Given the description of an element on the screen output the (x, y) to click on. 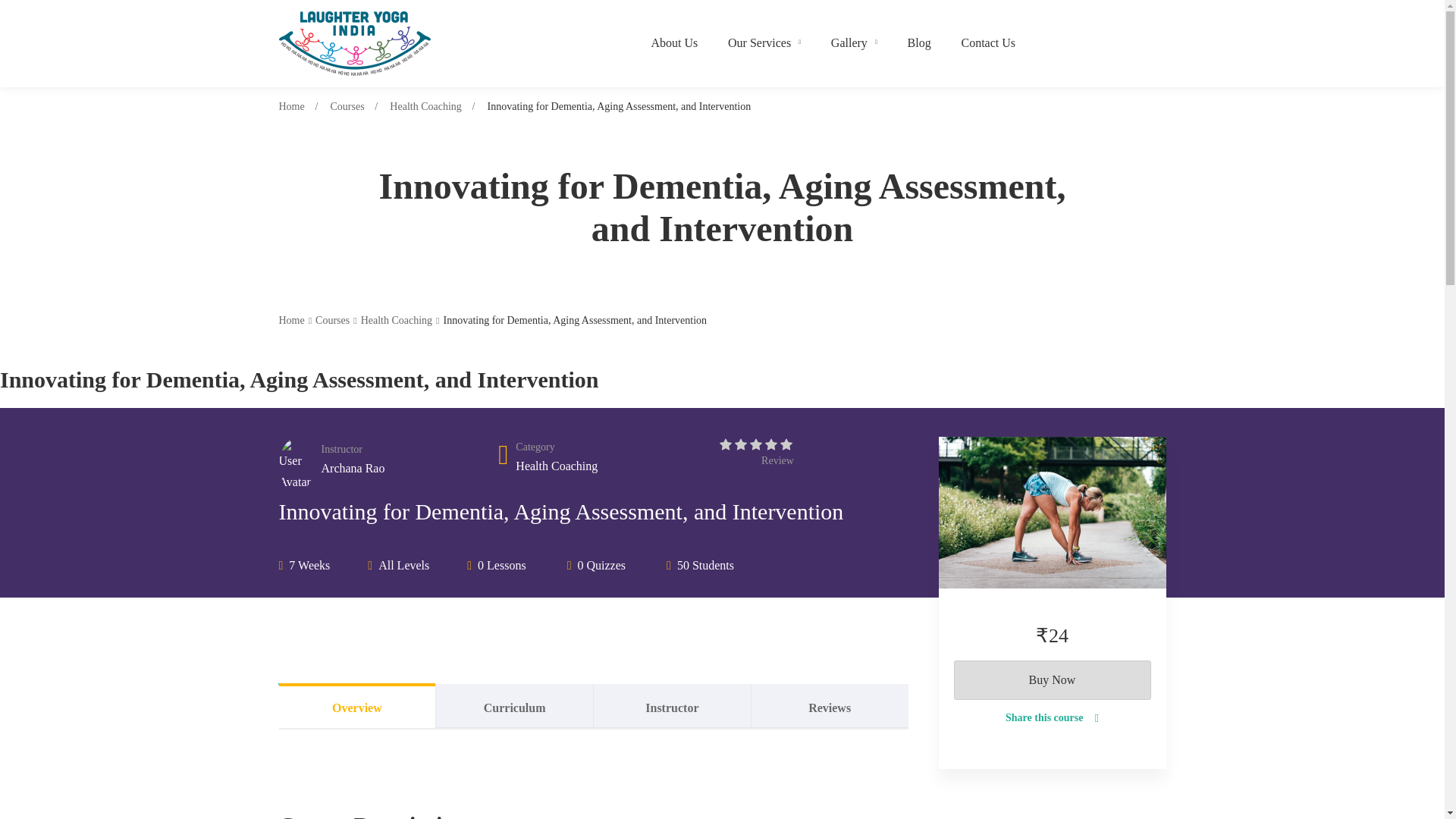
Contact Us (988, 43)
Health Coaching (425, 106)
Health Coaching (555, 465)
Health Coaching (396, 319)
Home (291, 106)
Courses (332, 319)
Gallery (853, 43)
0 out of 5 stars (755, 445)
Home (291, 319)
Our Services (763, 43)
Archana Rao (354, 467)
Courses (347, 106)
Innovating for Dementia, Aging Assessment, and Intervention (1052, 512)
About Us (674, 43)
Buy Now (1052, 680)
